Given the description of an element on the screen output the (x, y) to click on. 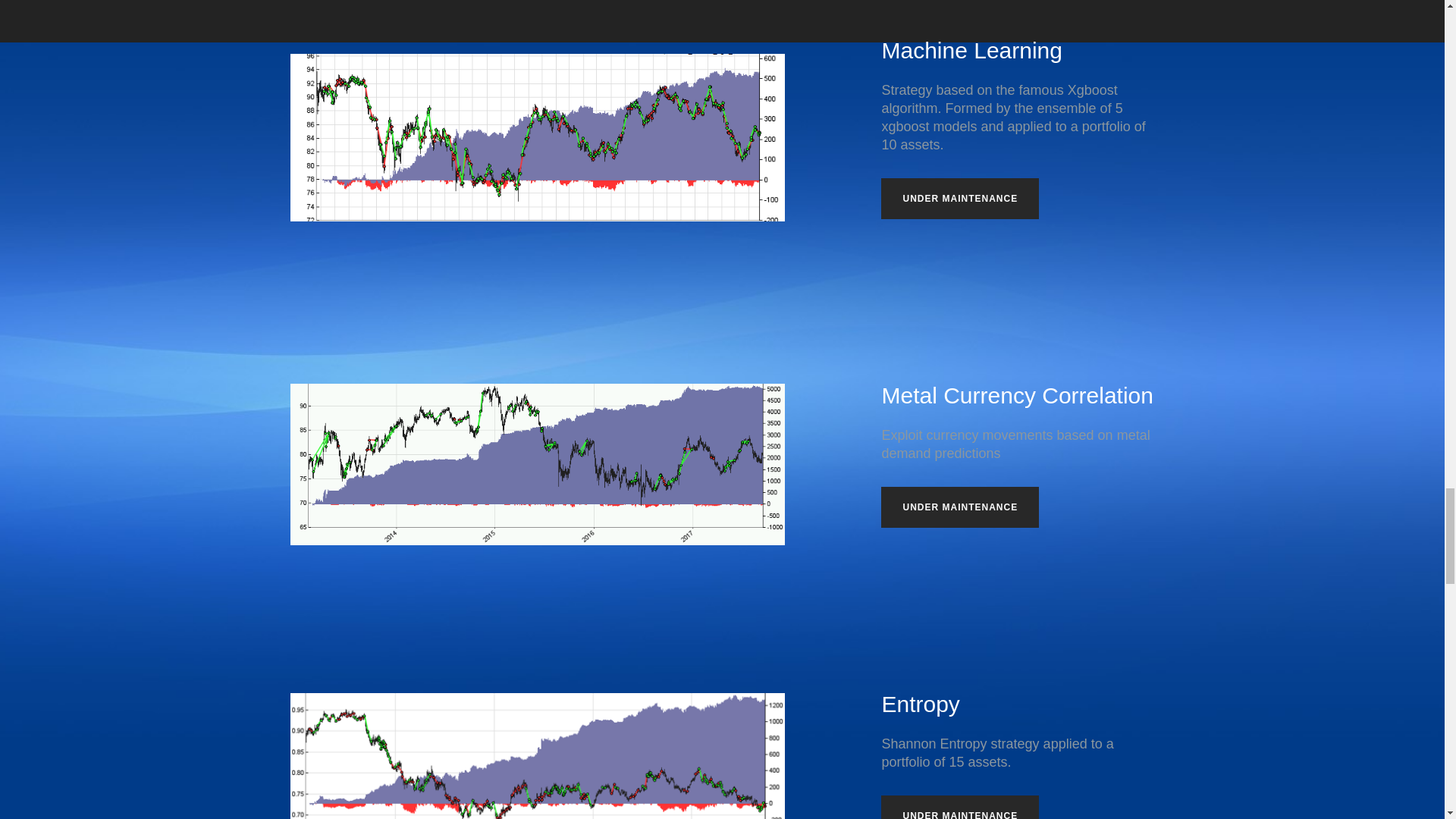
UNDER MAINTENANCE (959, 506)
UNDER MAINTENANCE (959, 198)
UNDER MAINTENANCE (959, 807)
